Given the description of an element on the screen output the (x, y) to click on. 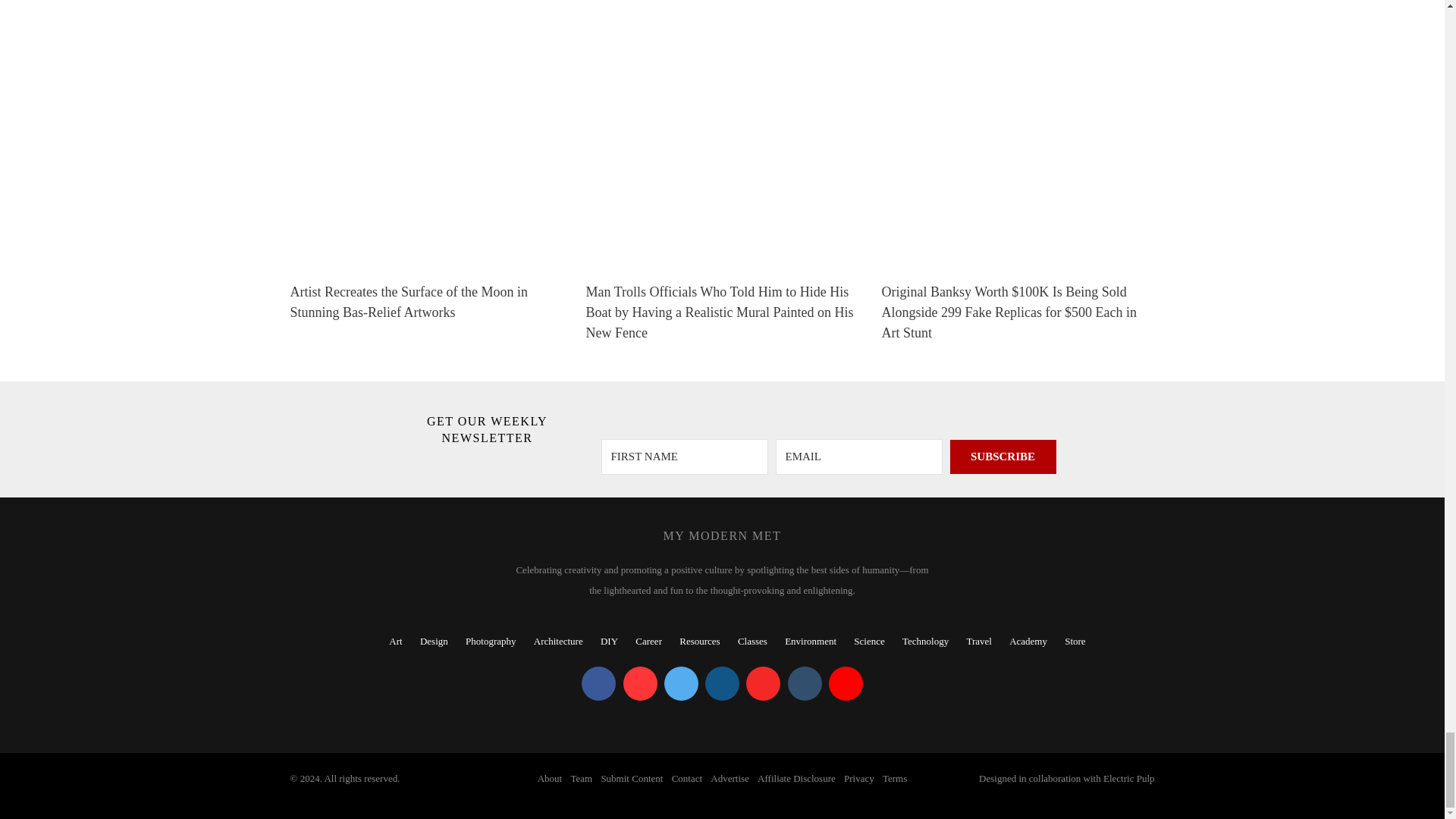
My Modern Met on Instagram (721, 683)
My Modern Met on Facebook (597, 683)
My Modern Met on Pinterest (640, 683)
My Modern Met on Tumblr (804, 683)
My Modern Met on Twitter (680, 683)
My Modern Met on YouTube (845, 683)
